Given the description of an element on the screen output the (x, y) to click on. 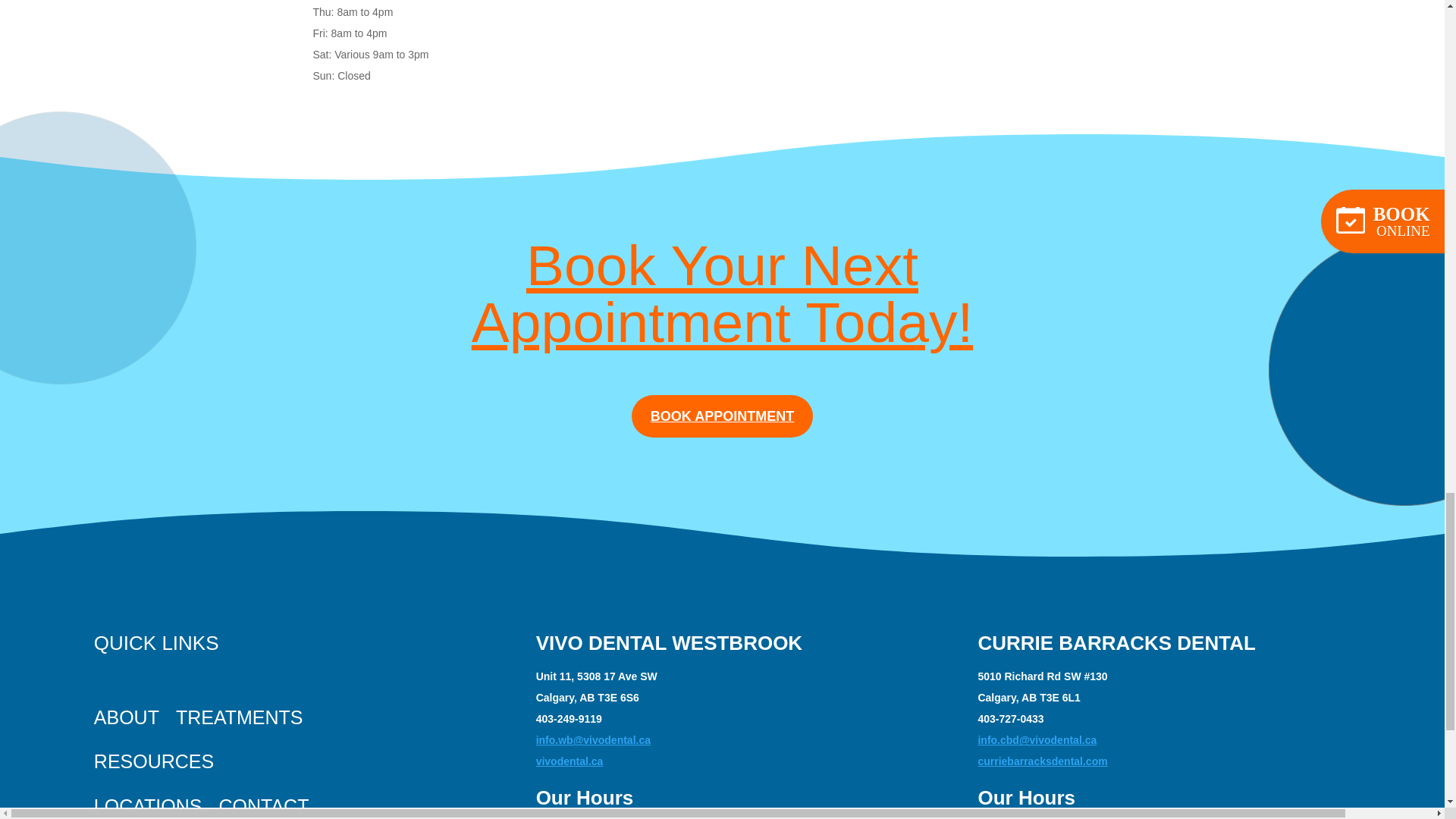
ABOUT (126, 714)
vivodental.ca (569, 761)
LOCATIONS (148, 801)
Book Your Next Appointment Today! (722, 293)
TREATMENTS (239, 714)
BOOK APPOINTMENT (721, 416)
curriebarracksdental.com (1041, 761)
CONTACT (263, 801)
RESOURCES (154, 758)
